Given the description of an element on the screen output the (x, y) to click on. 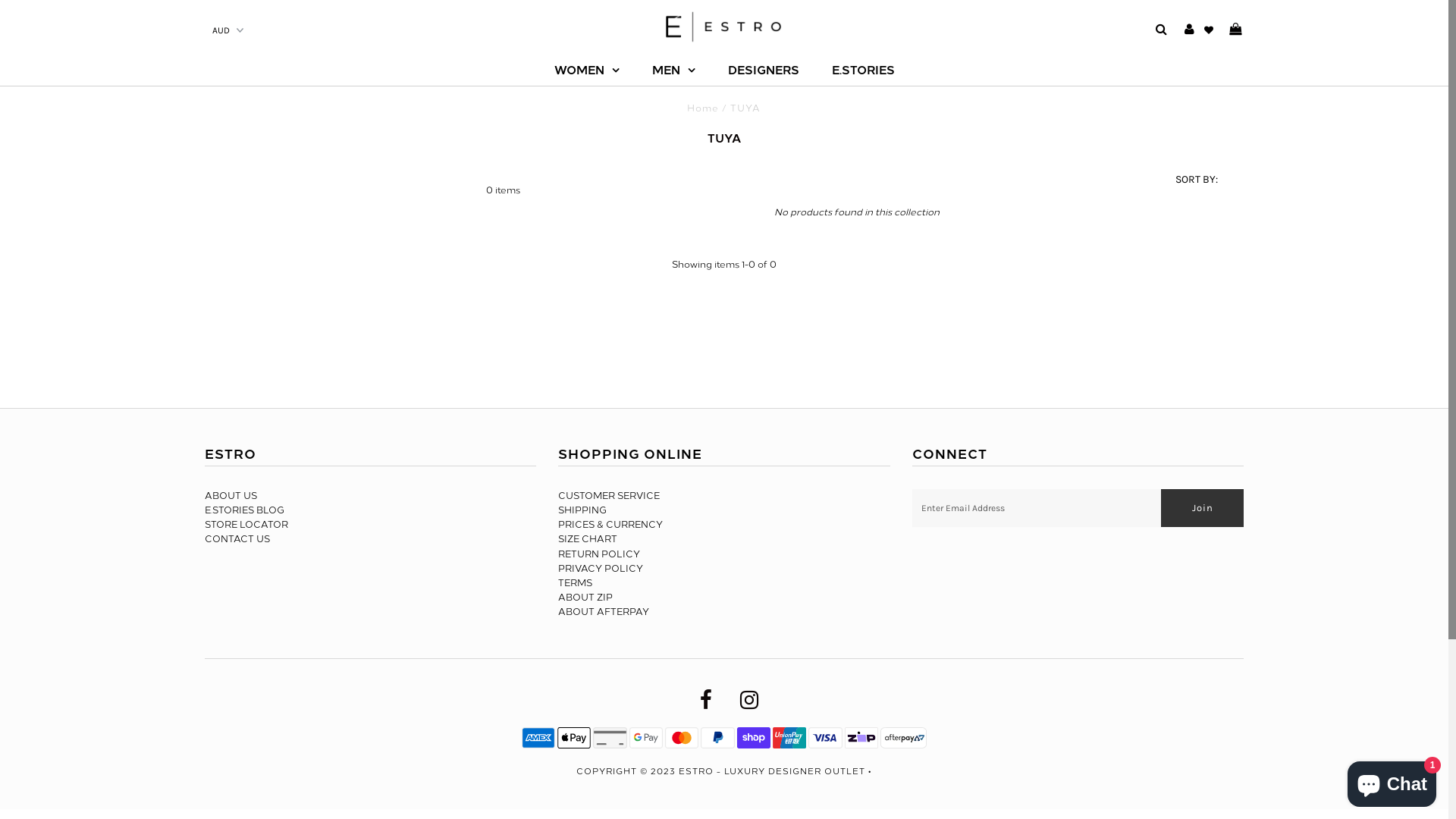
CUSTOMER SERVICE Element type: text (608, 495)
CONTACT US Element type: text (236, 538)
E.STORIES Element type: text (862, 70)
SIZE CHART Element type: text (587, 538)
PRIVACY POLICY Element type: text (600, 568)
Home Element type: text (702, 108)
RETURN POLICY Element type: text (599, 554)
MEN Element type: text (673, 70)
ABOUT AFTERPAY Element type: text (603, 611)
PRICES & CURRENCY Element type: text (610, 524)
ABOUT ZIP Element type: text (585, 597)
E.STORIES BLOG Element type: text (244, 510)
WOMEN Element type: text (585, 70)
DESIGNERS Element type: text (763, 70)
ESTRO - LUXURY DESIGNER OUTLET Element type: text (771, 771)
ABOUT US Element type: text (230, 495)
TERMS Element type: text (575, 582)
  Element type: text (1236, 30)
STORE LOCATOR Element type: text (246, 524)
Join Element type: text (1202, 508)
Shopify online store chat Element type: hover (1391, 780)
SHIPPING Element type: text (582, 510)
